Given the description of an element on the screen output the (x, y) to click on. 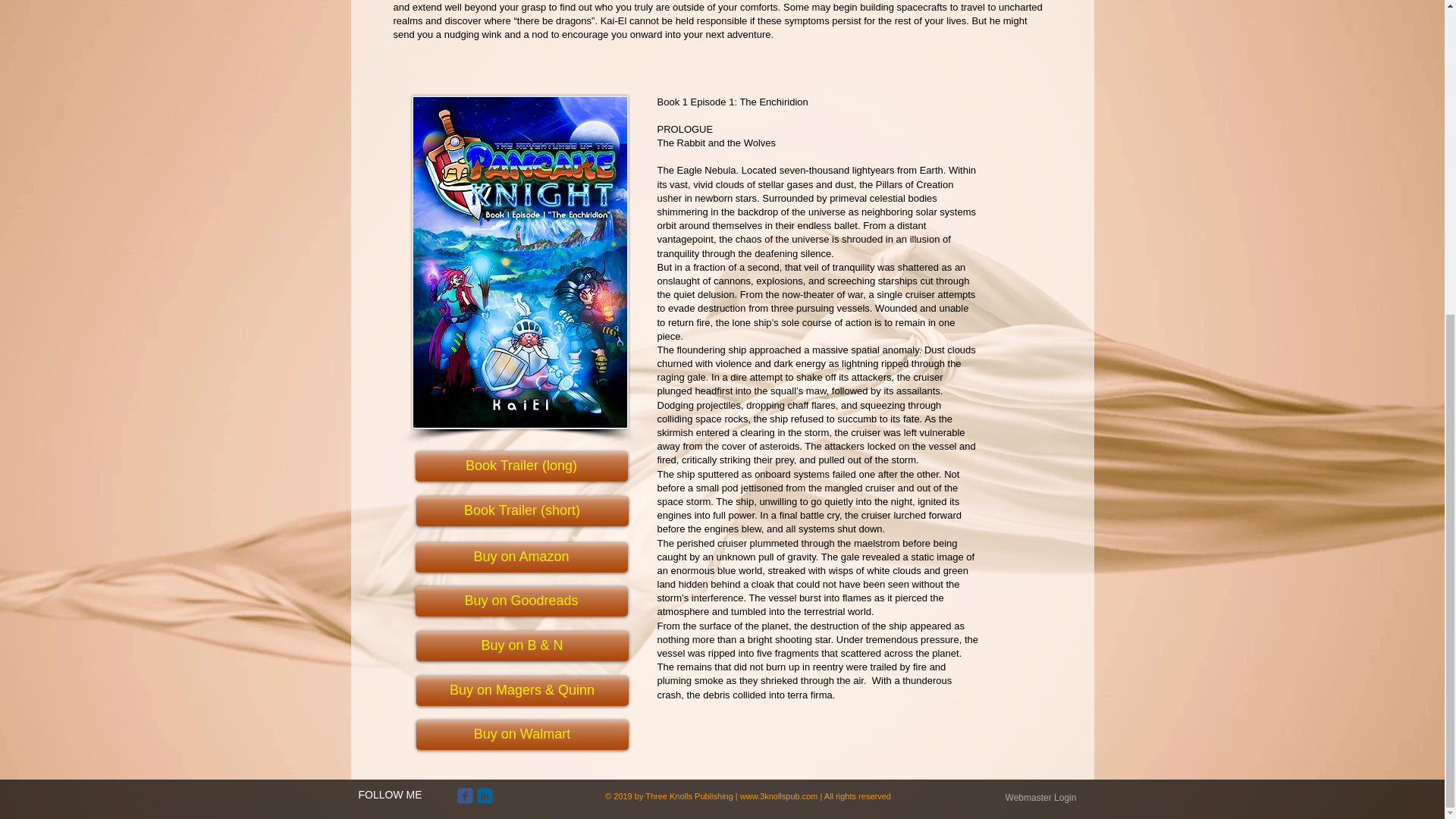
Buy on Walmart (520, 734)
Buy on Amazon (520, 557)
Buy on Goodreads (520, 601)
www.3knollspub.com (778, 795)
Webmaster Login (1040, 798)
